Given the description of an element on the screen output the (x, y) to click on. 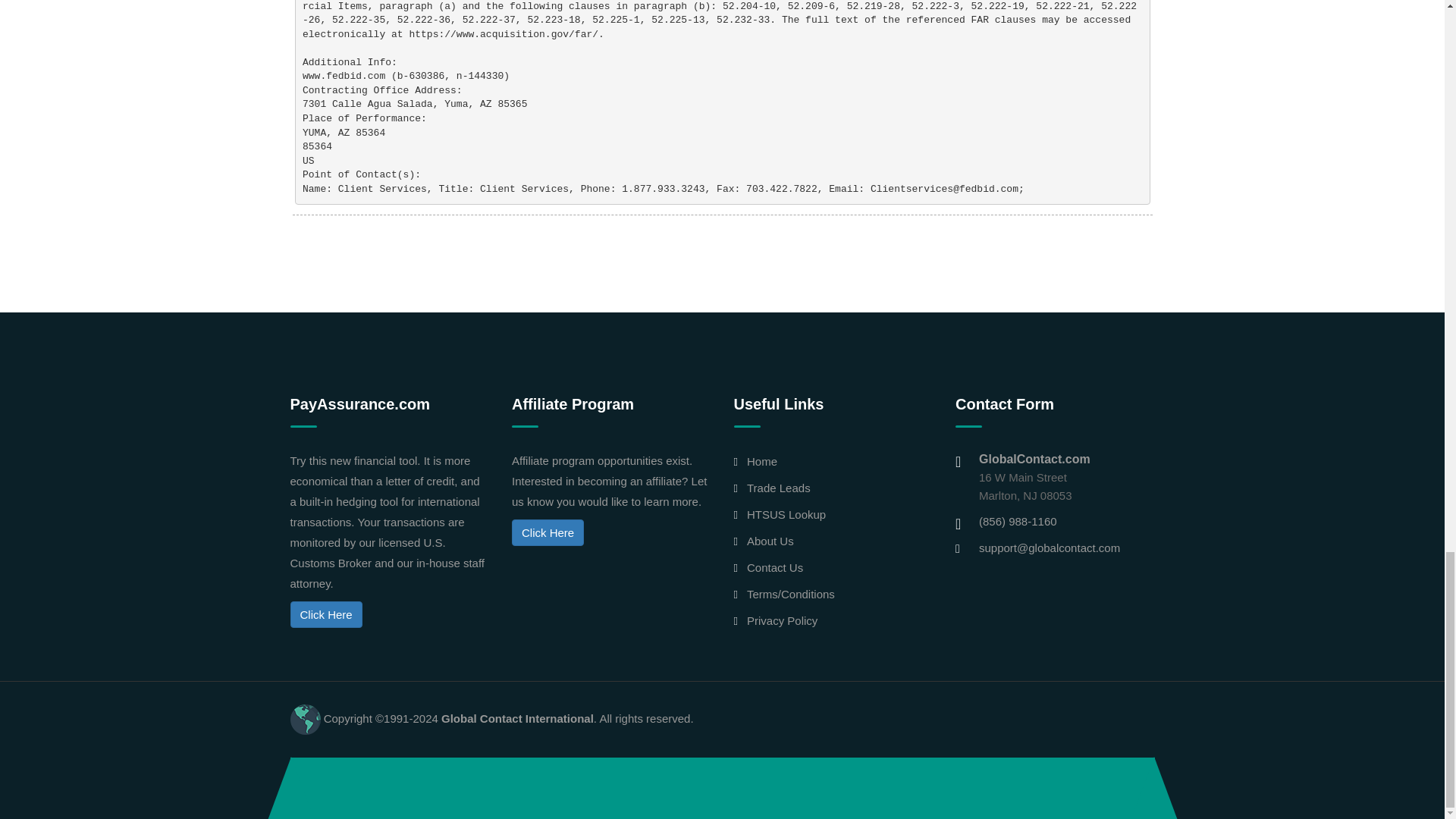
HTSUS Lookup (785, 513)
Contact Us (774, 567)
About Us (769, 540)
Click Here (547, 532)
Privacy Policy (781, 620)
Home (761, 461)
Global Contact International (517, 717)
Trade Leads (778, 487)
Click Here (325, 614)
